Given the description of an element on the screen output the (x, y) to click on. 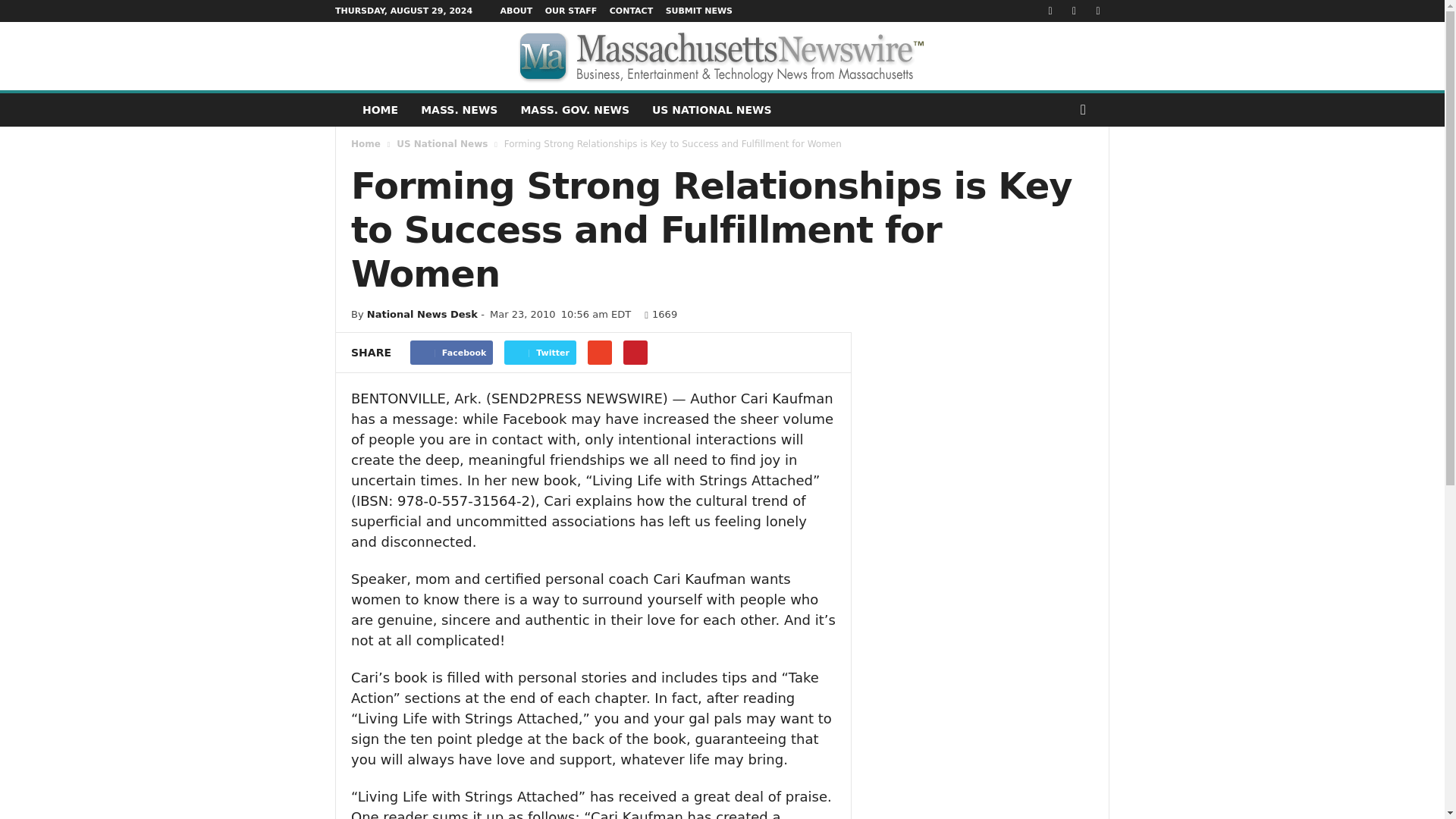
MASS. GOV. NEWS (574, 109)
SUBMIT NEWS (698, 10)
CONTACT (631, 10)
Massachusetts News (458, 109)
Twitter (539, 352)
MASS. NEWS (458, 109)
Mass. Government News (574, 109)
OUR STAFF (570, 10)
National News Desk (421, 314)
HOME (379, 109)
